Given the description of an element on the screen output the (x, y) to click on. 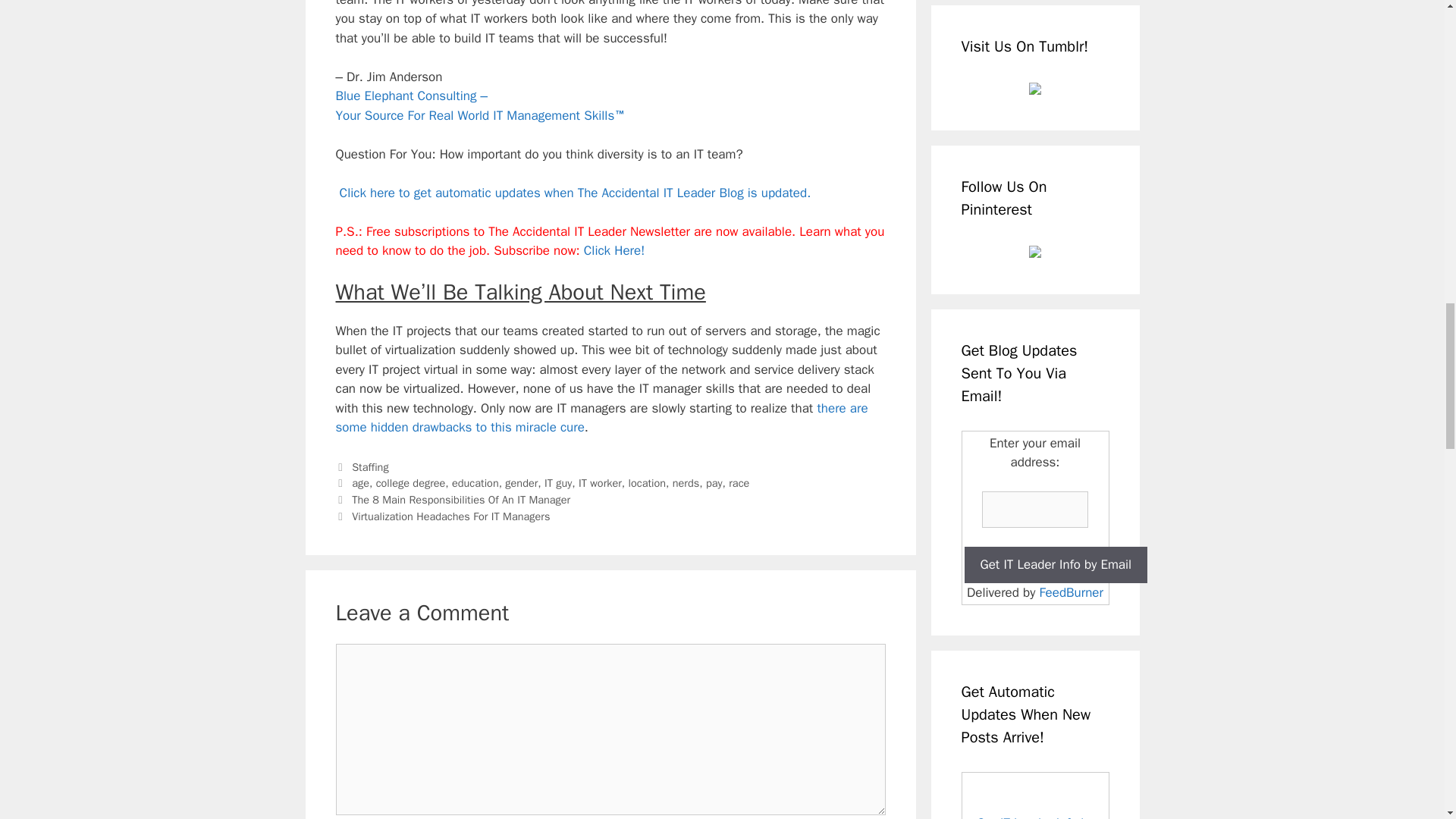
Blue Elephant Consulting - IT Management Consulting Services (479, 105)
race (739, 482)
Click Here! (614, 250)
there are some hidden drawbacks to this miracle cure (600, 417)
pay (714, 482)
IT guy (558, 482)
Get IT Leader Info by Email (1055, 565)
Subscribe to The Accidental IT Leader Newsletter (614, 250)
nerds (685, 482)
college degree (410, 482)
education (475, 482)
IT worker (599, 482)
The 8 Main Responsibilities Of An IT Manager (461, 499)
gender (521, 482)
